Given the description of an element on the screen output the (x, y) to click on. 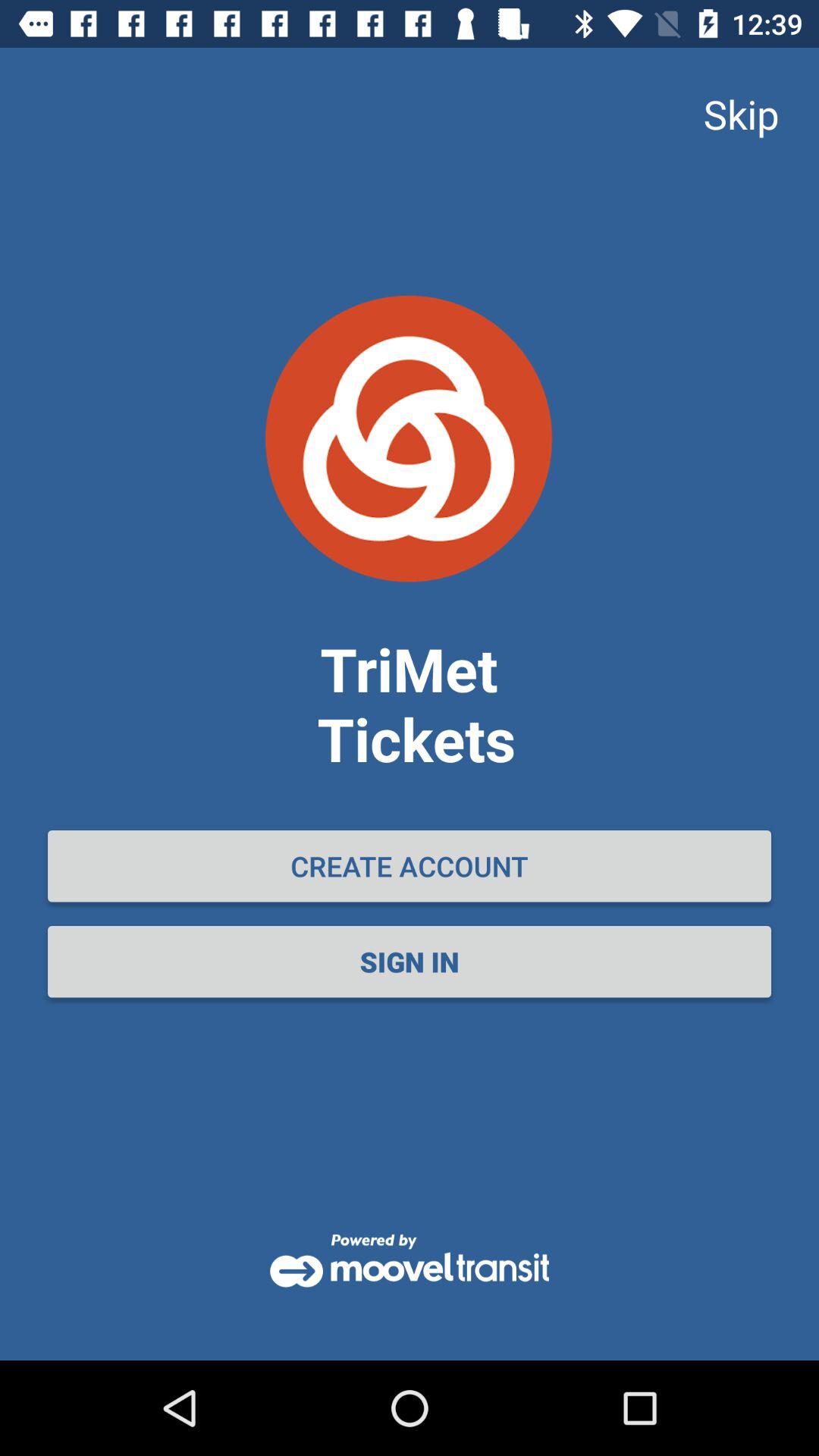
jump until skip (741, 113)
